Given the description of an element on the screen output the (x, y) to click on. 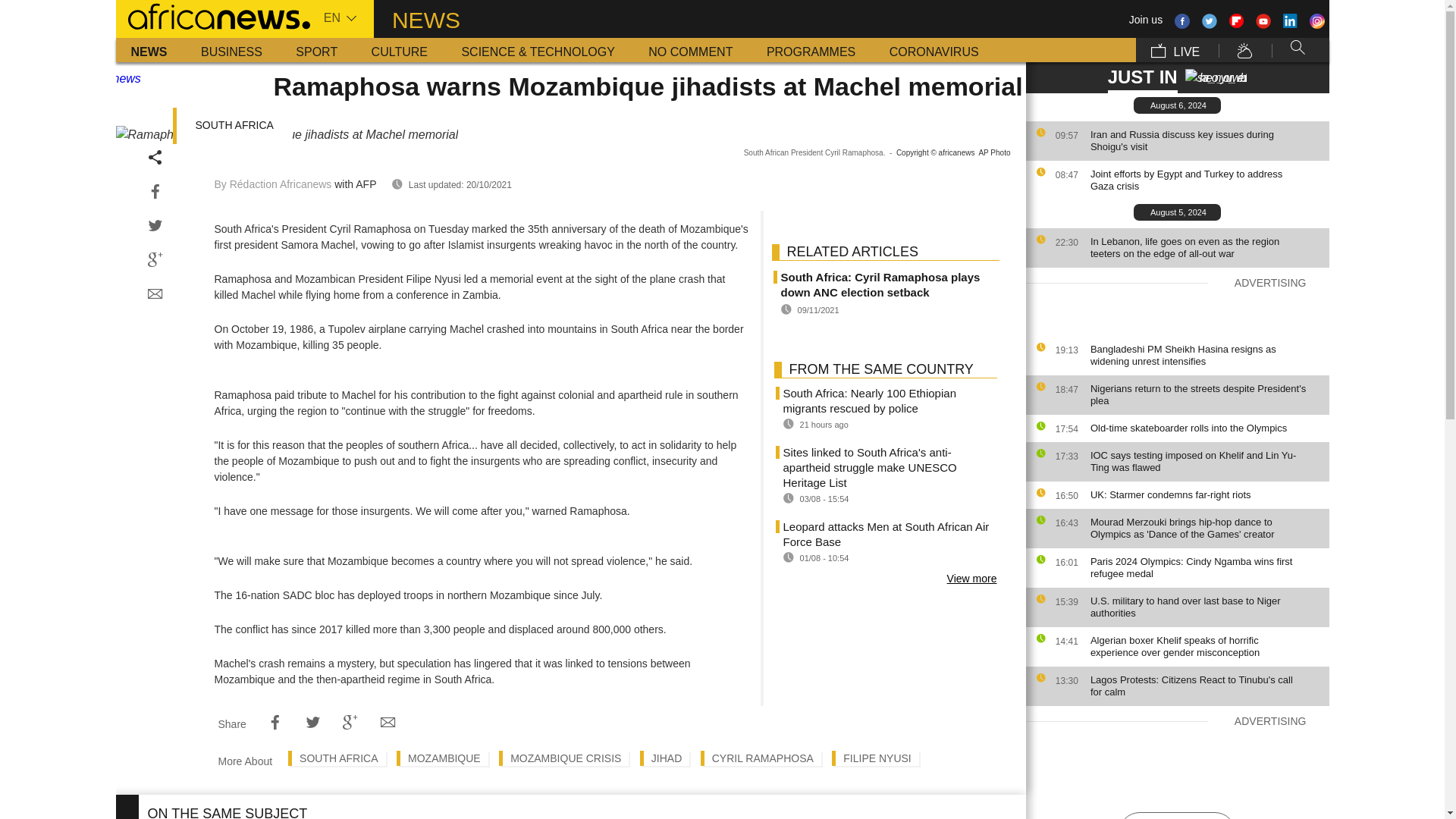
LIVE (1174, 49)
Joint efforts by Egypt and Turkey to address Gaza crisis (1206, 180)
Culture (399, 49)
NO COMMENT (690, 49)
Coronavirus (934, 49)
PROGRAMMES (810, 49)
Programmes (810, 49)
Sport (316, 49)
CORONAVIRUS (934, 49)
NEWS (148, 49)
Business (232, 49)
BUSINESS (232, 49)
Africanews (211, 15)
